Given the description of an element on the screen output the (x, y) to click on. 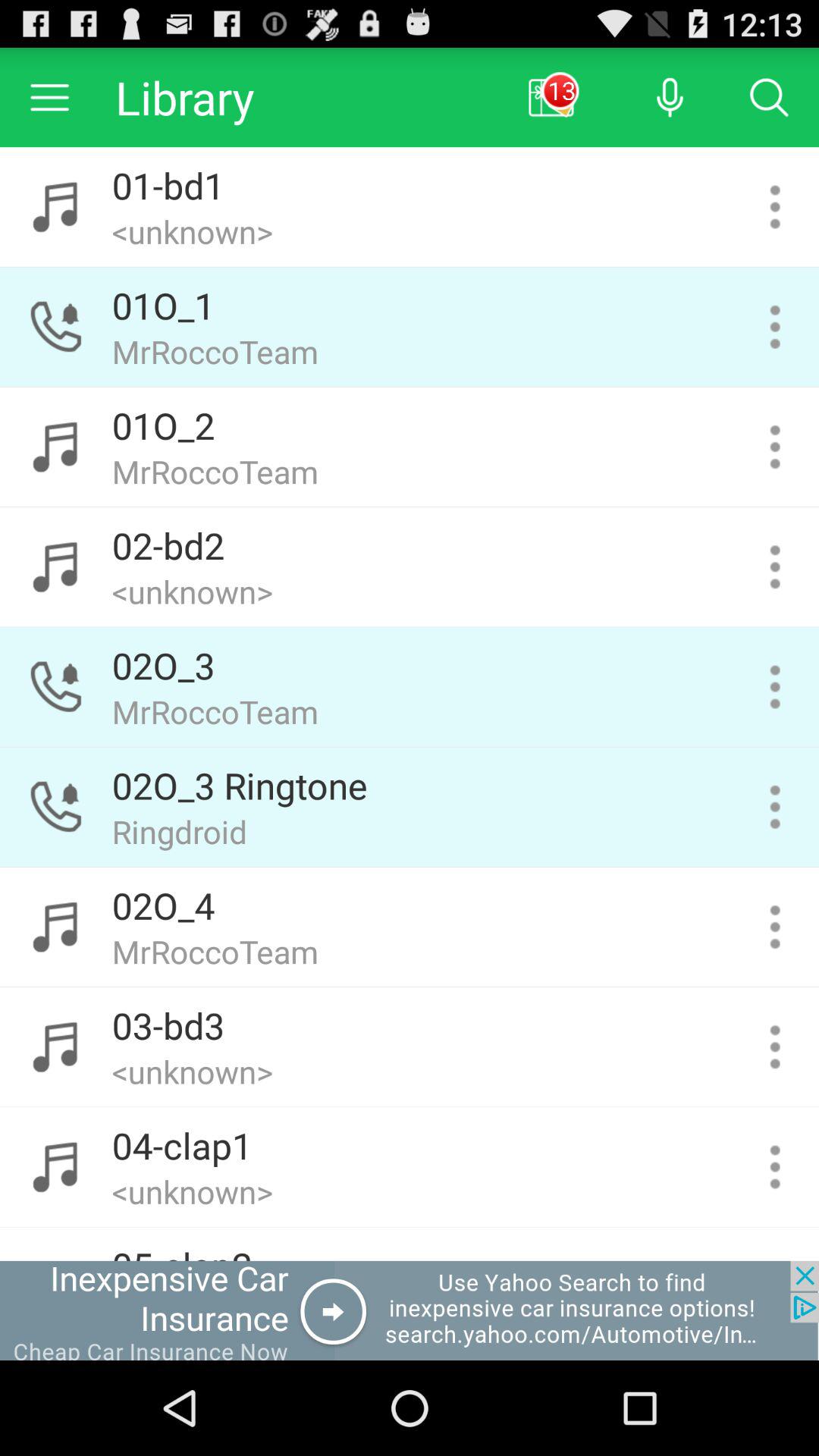
click the button to get more information (775, 806)
